Given the description of an element on the screen output the (x, y) to click on. 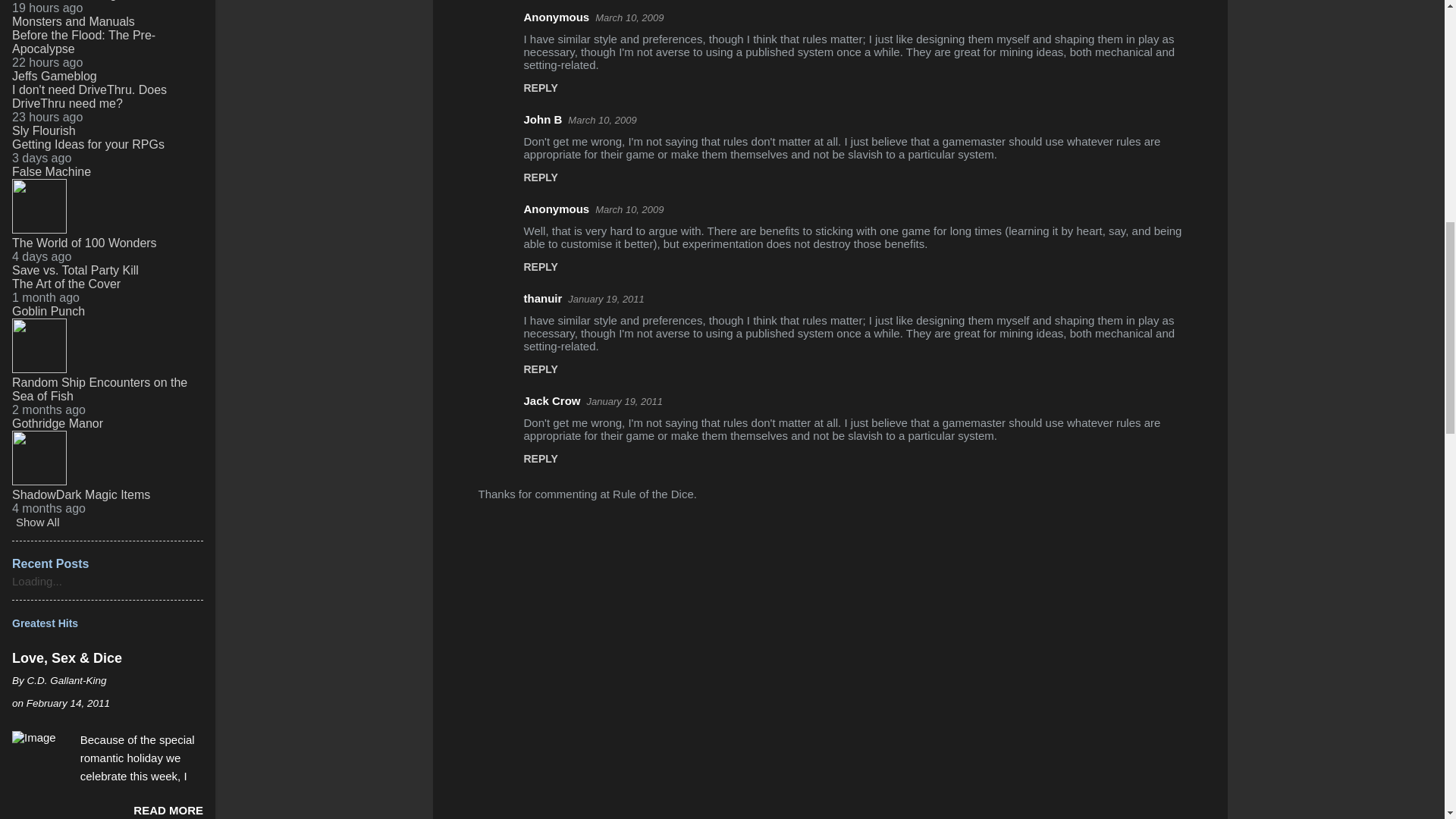
Jack Crow (550, 400)
January 19, 2011 (605, 298)
March 10, 2009 (629, 209)
thanuir (542, 297)
March 10, 2009 (629, 17)
March 10, 2009 (601, 120)
REPLY (539, 369)
REPLY (539, 266)
January 19, 2011 (624, 401)
REPLY (539, 87)
John B (542, 119)
REPLY (539, 177)
